Given the description of an element on the screen output the (x, y) to click on. 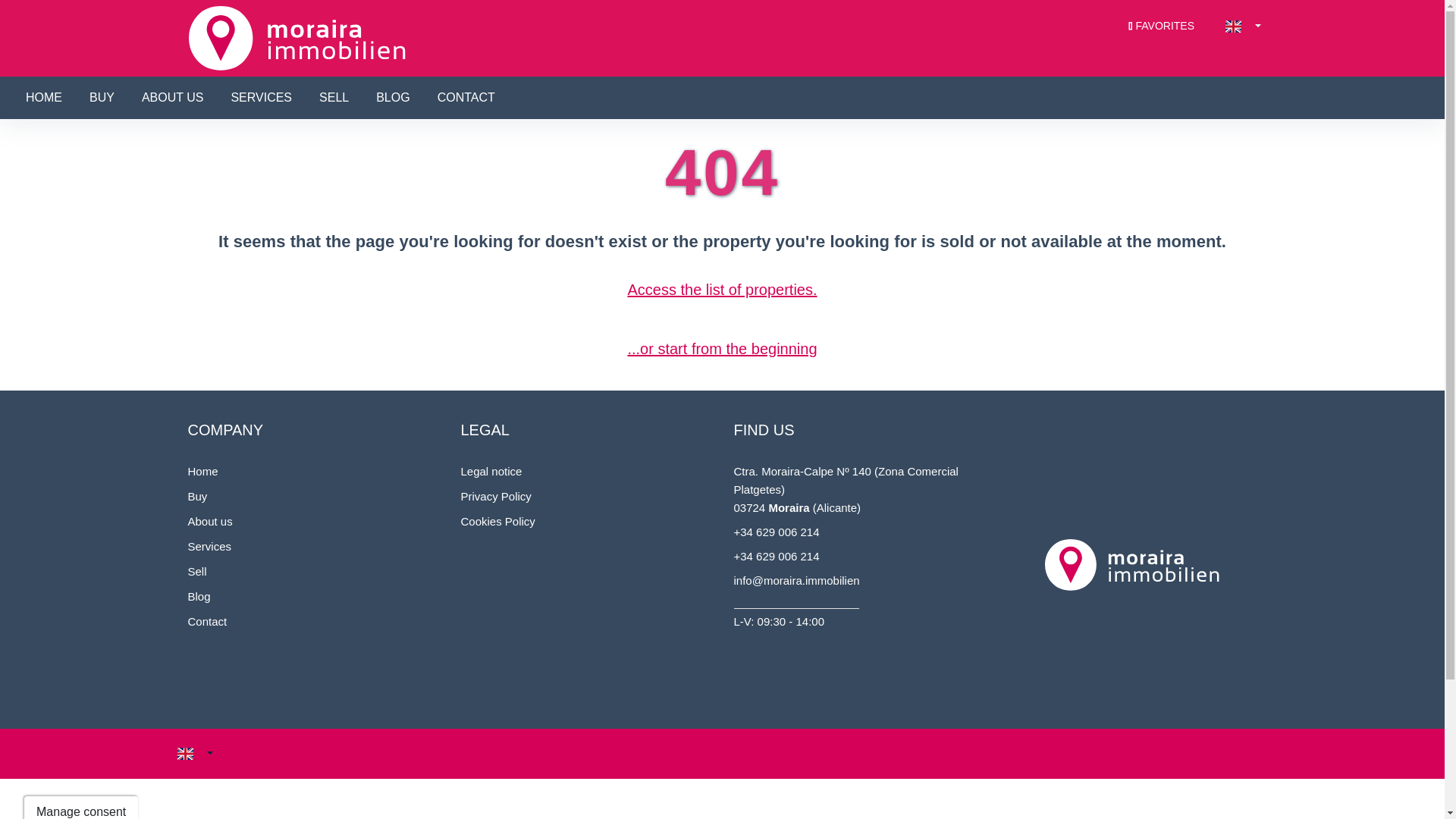
Legal notice (491, 471)
FAVORITES (1161, 26)
Sell (196, 571)
Buy (197, 495)
About us (209, 521)
Access the list of properties. (721, 289)
Cookies Policy (498, 521)
HOME (44, 97)
Services (209, 545)
SELL (334, 97)
...or start from the beginning (721, 348)
Contact (207, 621)
SERVICES (261, 97)
Blog (199, 595)
Privacy Policy (496, 495)
